Given the description of an element on the screen output the (x, y) to click on. 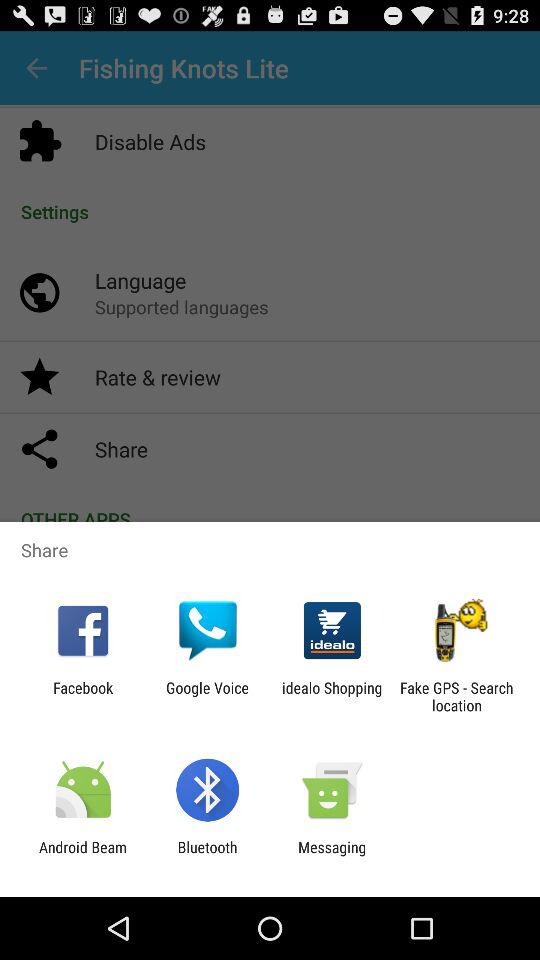
scroll to facebook item (83, 696)
